Given the description of an element on the screen output the (x, y) to click on. 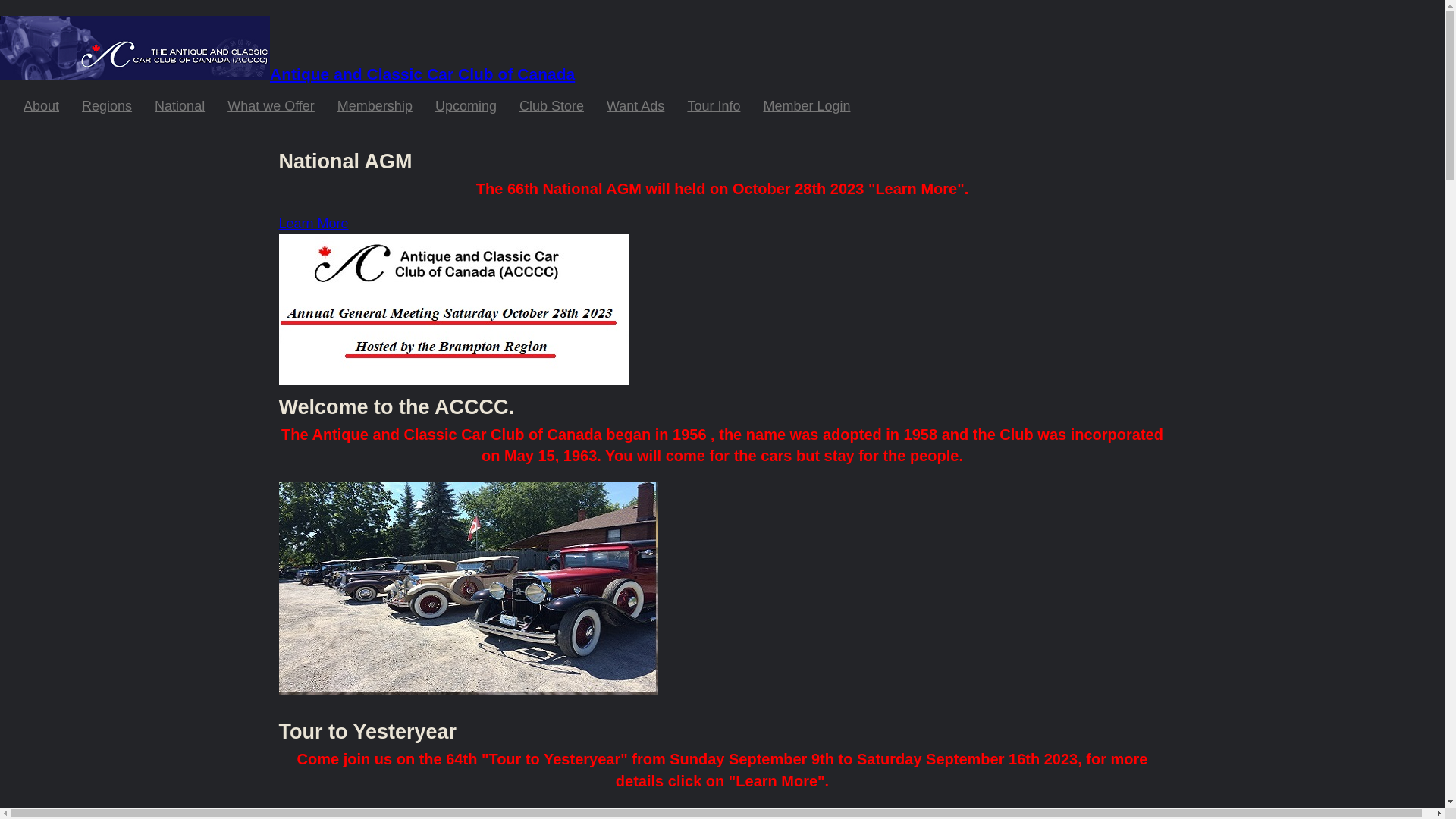
Membership Element type: text (374, 106)
Member Login Element type: text (806, 106)
Tour Info Element type: text (713, 106)
National Element type: text (179, 106)
Want Ads Element type: text (635, 106)
Upcoming Element type: text (465, 106)
Learn More Element type: text (313, 223)
Antique and Classic Car Club of Canada Element type: text (287, 73)
What we Offer Element type: text (271, 106)
Club Store Element type: text (551, 106)
About Element type: text (41, 106)
Regions Element type: text (106, 106)
